Given the description of an element on the screen output the (x, y) to click on. 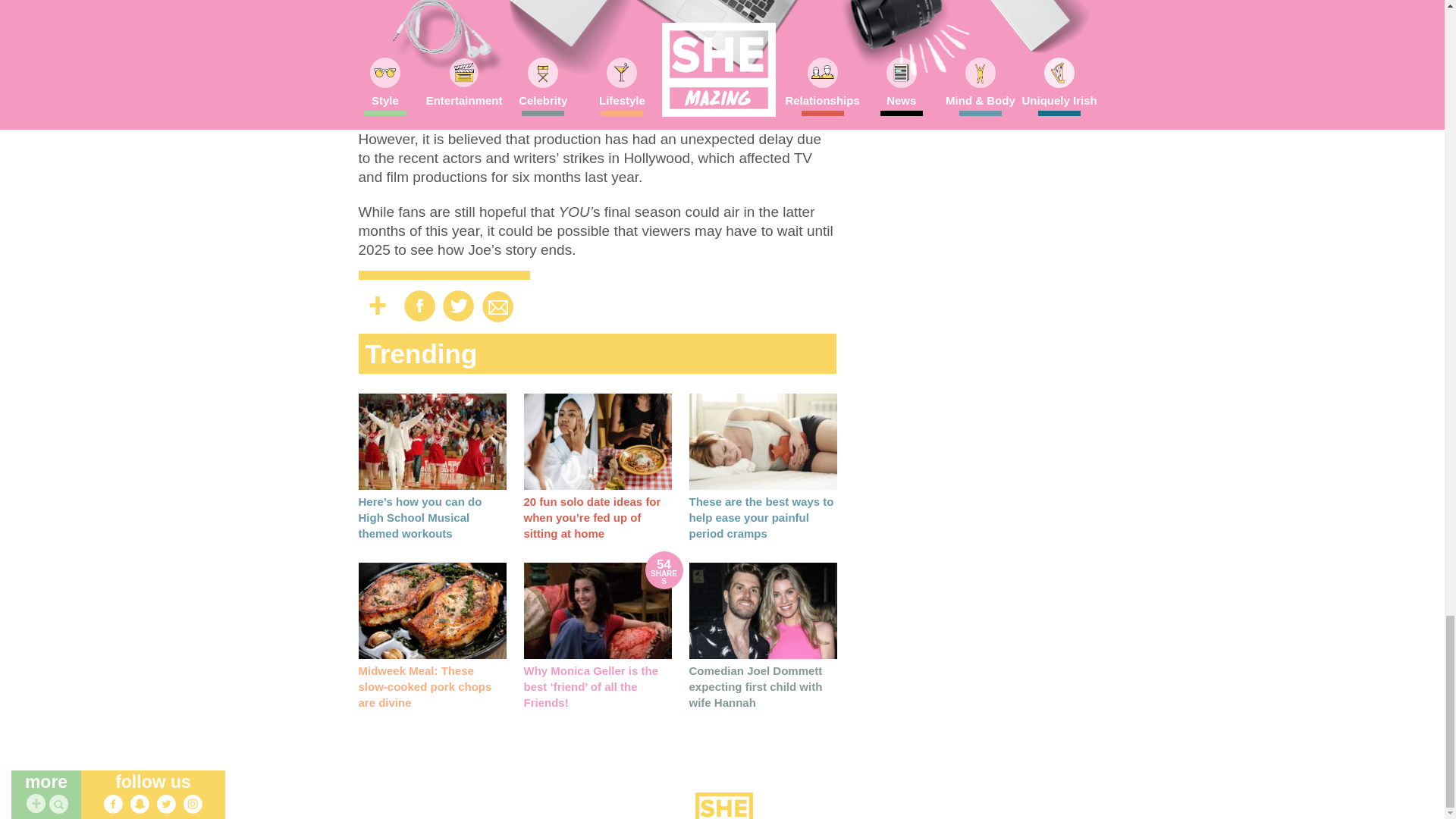
Comedian Joel Dommett expecting first child with wife Hannah (755, 686)
Comedian Joel Dommett expecting first child with wife Hannah (761, 610)
Midweek Meal: These slow-cooked pork chops are divine (425, 686)
Midweek Meal: These slow-cooked pork chops are divine (431, 610)
